Given the description of an element on the screen output the (x, y) to click on. 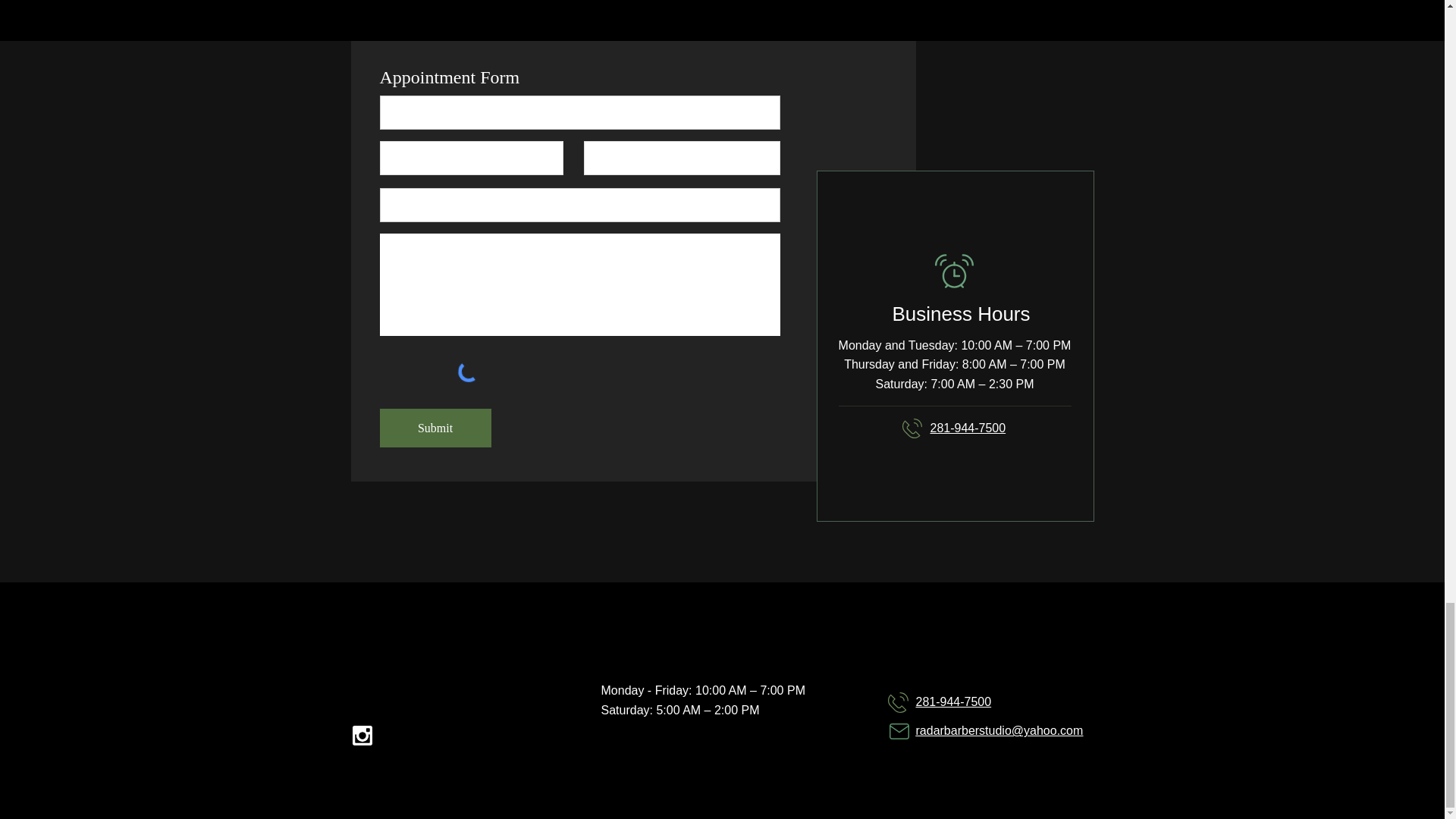
Submit (434, 427)
281-944-7500 (968, 427)
281-944-7500 (953, 701)
